Given the description of an element on the screen output the (x, y) to click on. 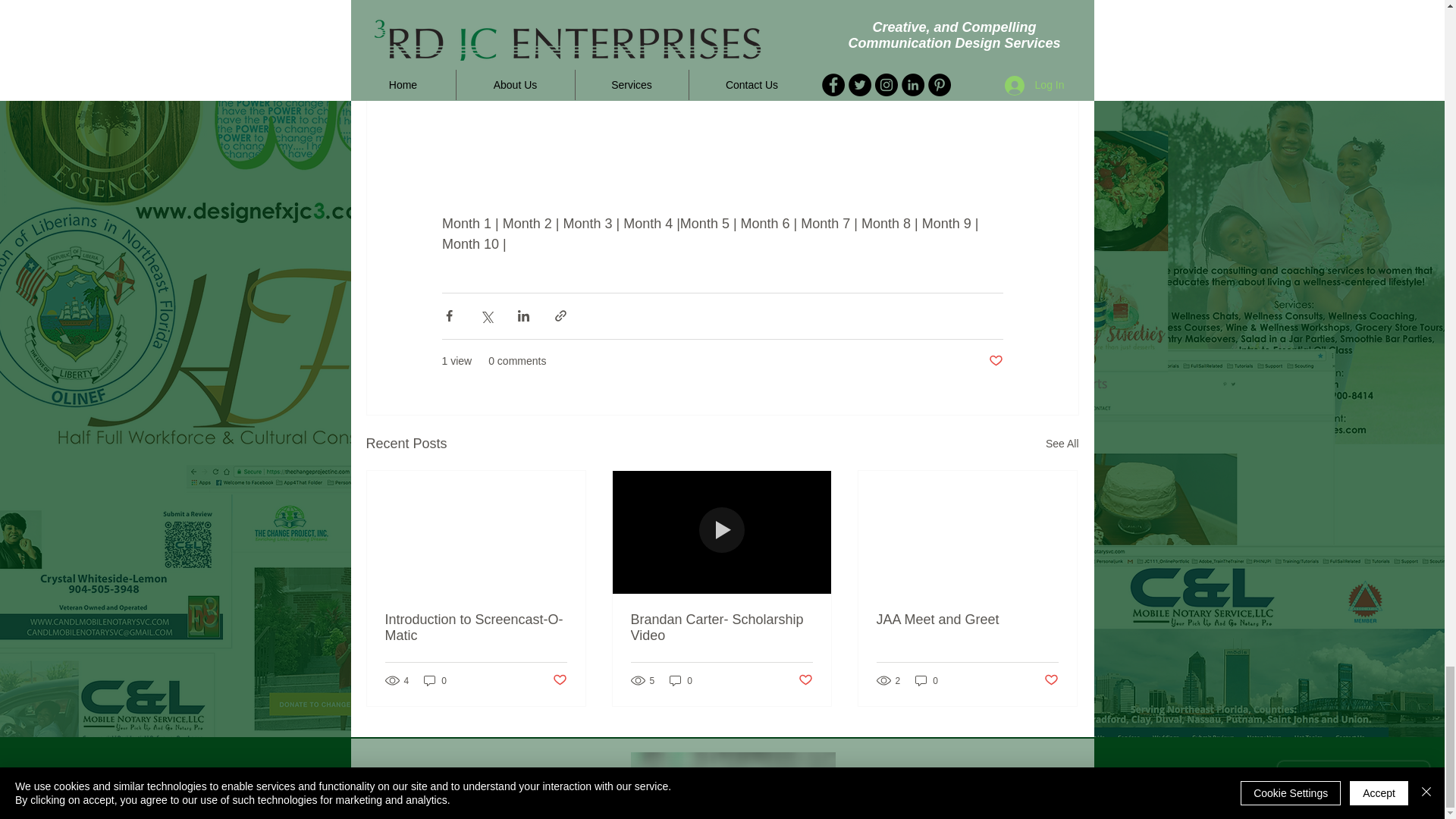
0 (435, 680)
Introduction to Screencast-O-Matic (476, 627)
Post not marked as liked (558, 680)
Post not marked as liked (995, 360)
See All (1061, 444)
